Given the description of an element on the screen output the (x, y) to click on. 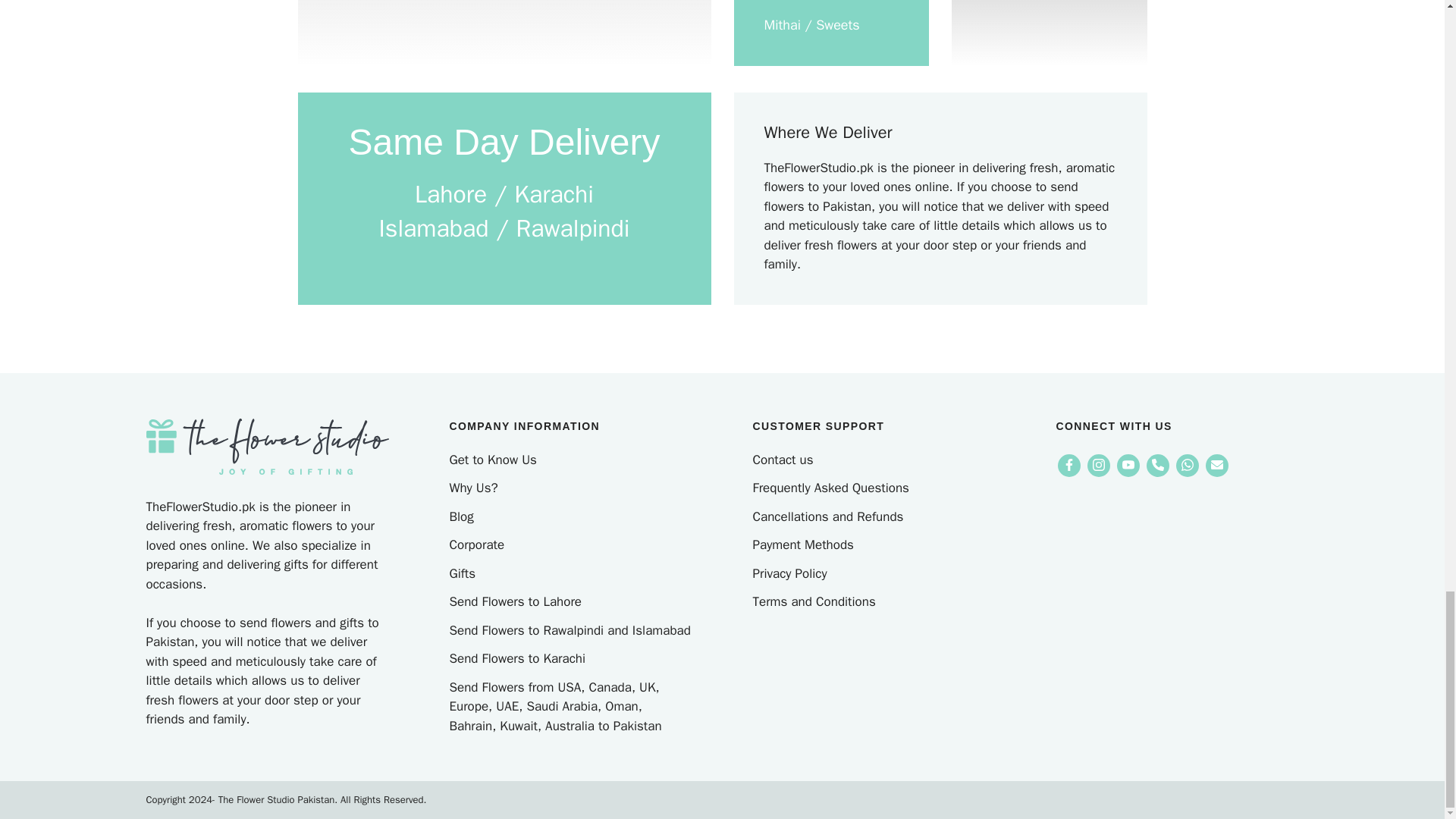
tfslogo (266, 446)
